Given the description of an element on the screen output the (x, y) to click on. 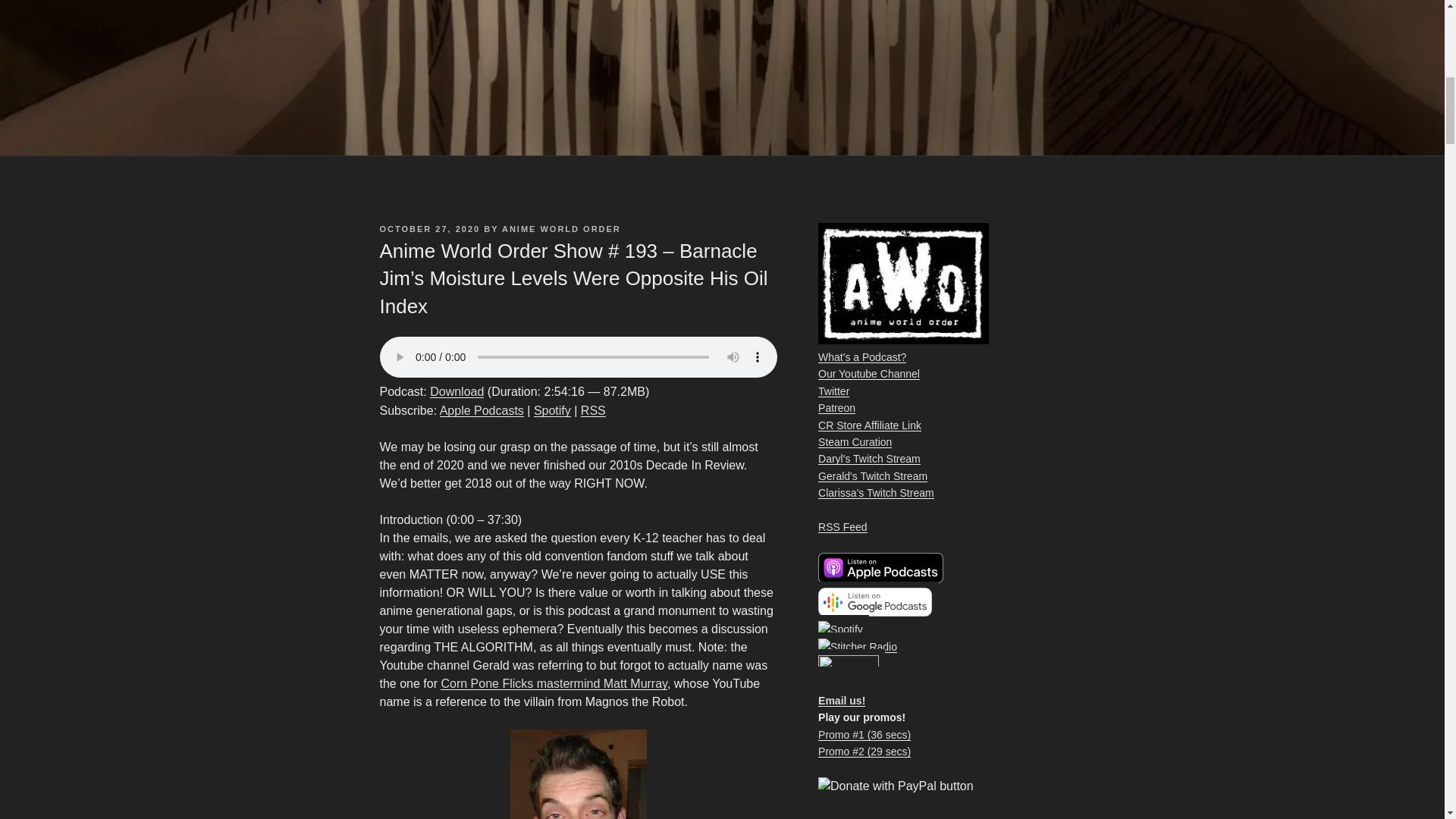
Download (456, 391)
Download (456, 391)
Spotify (552, 410)
OCTOBER 27, 2020 (429, 228)
Apple Podcasts (481, 410)
PayPal - The safer, easier way to pay online! (896, 786)
RSS (592, 410)
ANIME WORLD ORDER (561, 228)
Corn Pone Flicks mastermind Matt Murray (553, 683)
Subscribe on Apple Podcasts (481, 410)
